Given the description of an element on the screen output the (x, y) to click on. 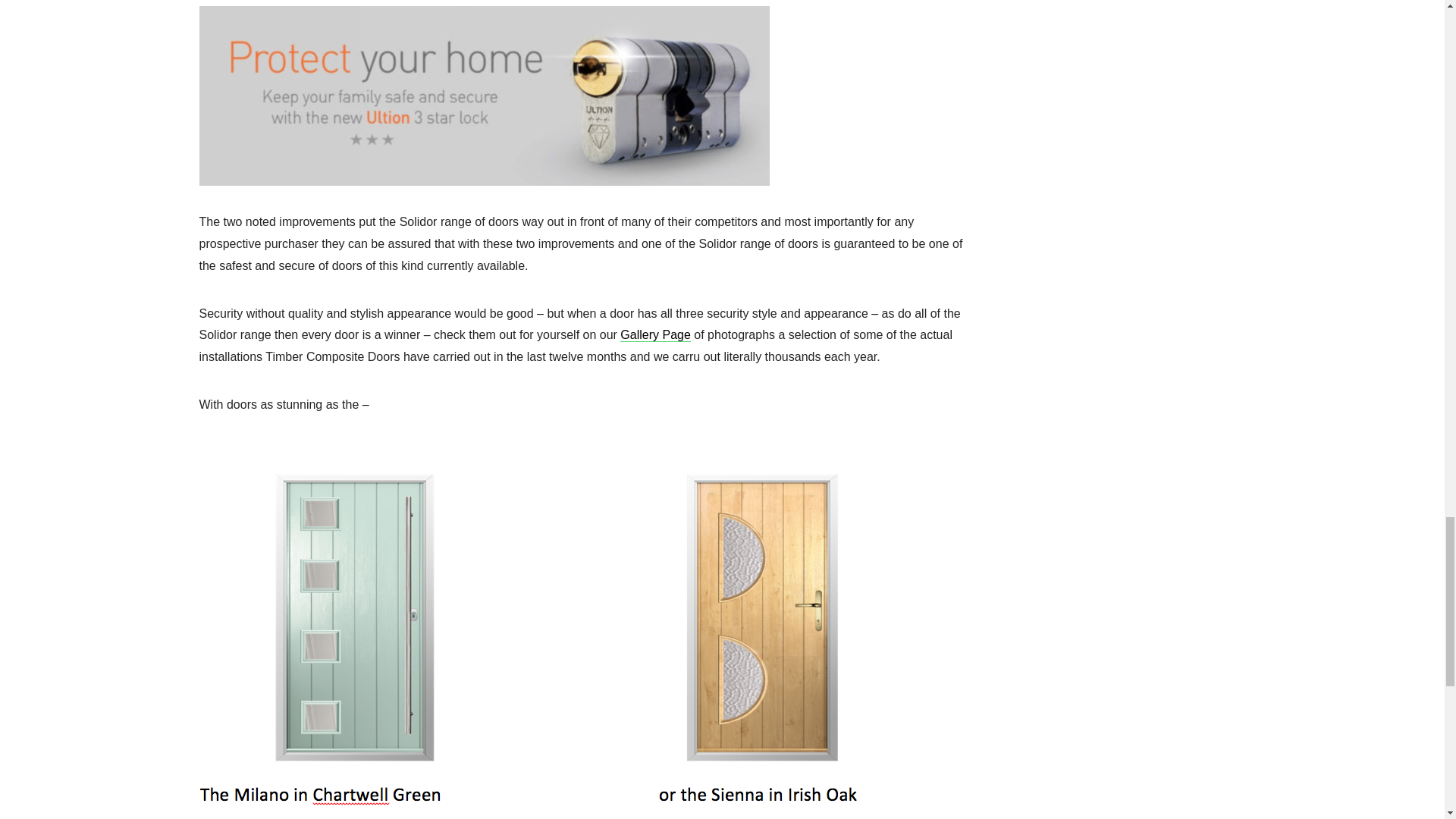
Gallery Page (655, 334)
